Given the description of an element on the screen output the (x, y) to click on. 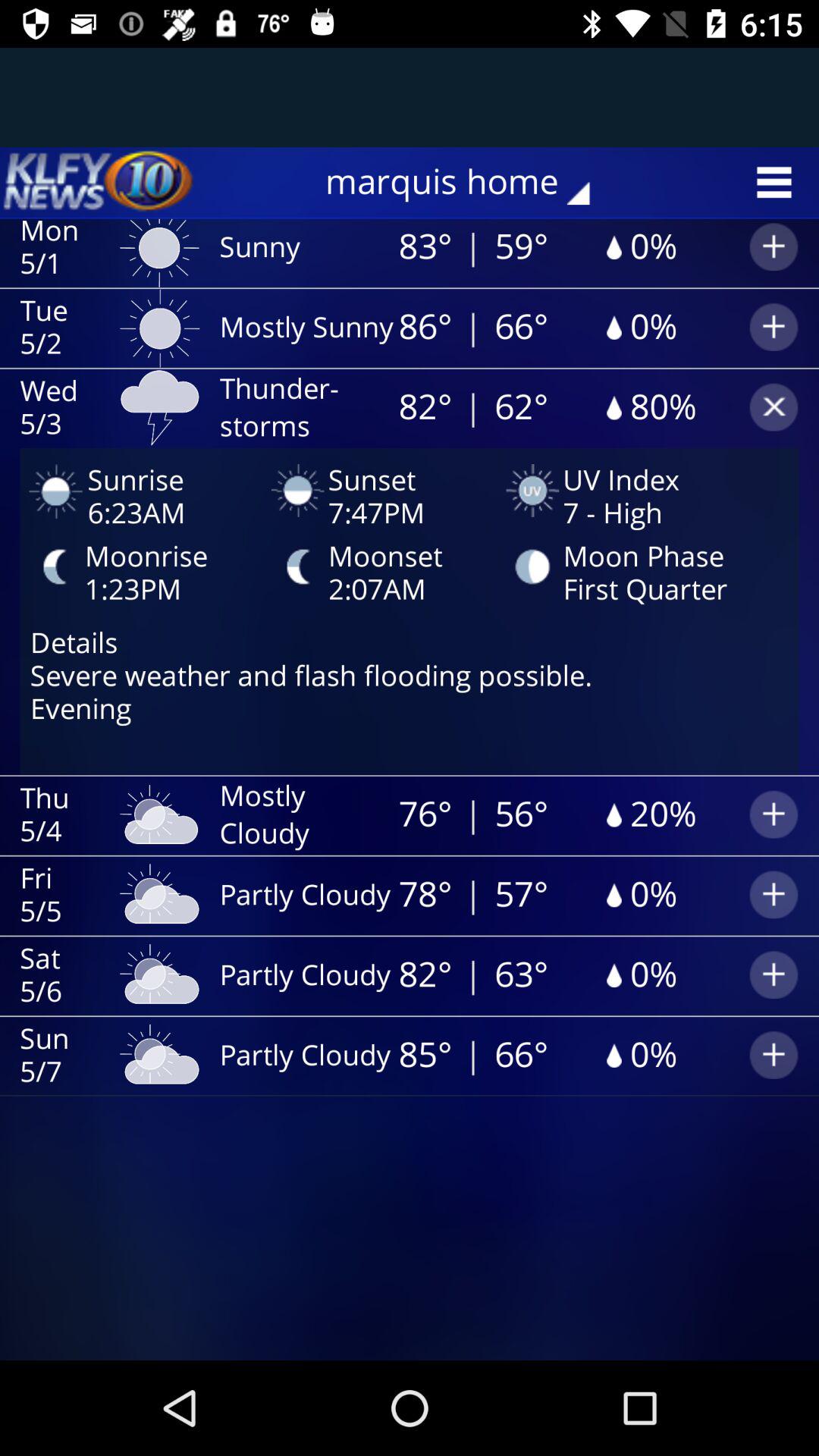
launch item to the left of the sunny (99, 182)
